Given the description of an element on the screen output the (x, y) to click on. 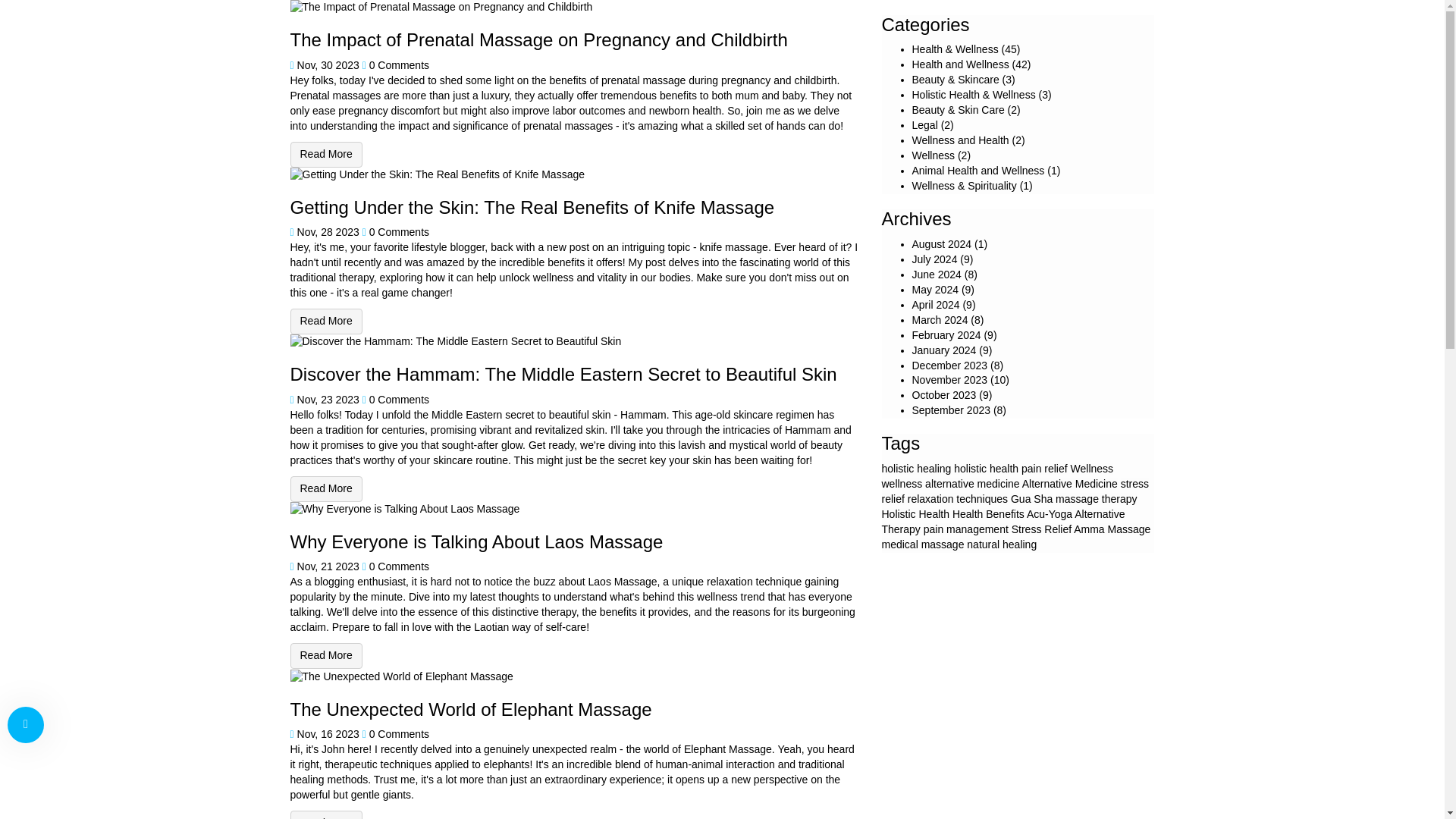
Read More (325, 655)
Why Everyone is Talking About Laos Massage (325, 655)
Getting Under the Skin: The Real Benefits of Knife Massage (325, 321)
Read More (325, 814)
The Unexpected World of Elephant Massage (325, 814)
Read More (325, 321)
Read More (325, 154)
The Impact of Prenatal Massage on Pregnancy and Childbirth (325, 154)
Read More (325, 488)
